Given the description of an element on the screen output the (x, y) to click on. 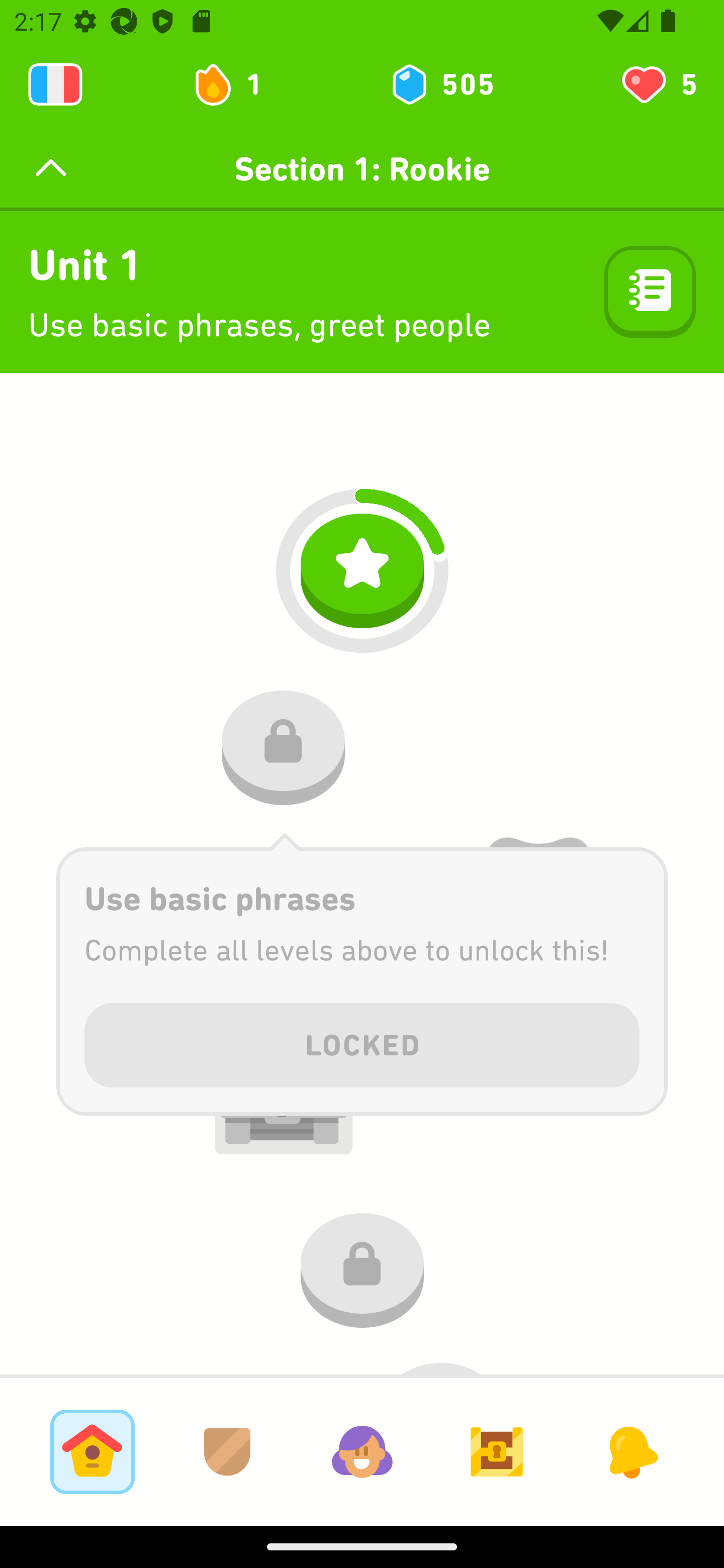
Learning 2131888976 (55, 84)
1 day streak 1 (236, 84)
505 (441, 84)
You have 5 hearts left 5 (657, 84)
Section 1: Rookie (362, 169)
LOCKED (361, 1041)
Learn Tab (91, 1451)
Leagues Tab (227, 1451)
Profile Tab (361, 1451)
Goals Tab (496, 1451)
News Tab (631, 1451)
